Given the description of an element on the screen output the (x, y) to click on. 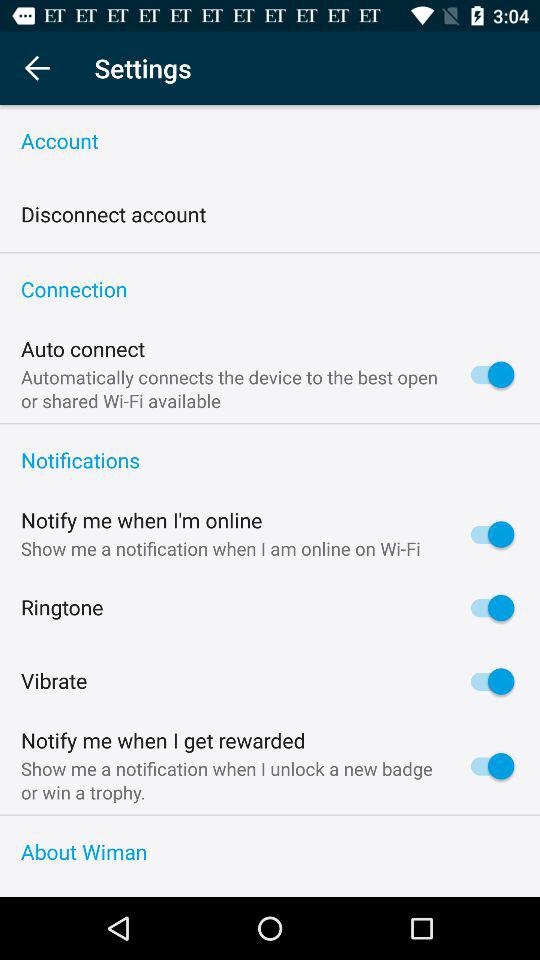
turn on the icon above the about wiman item (270, 815)
